Given the description of an element on the screen output the (x, y) to click on. 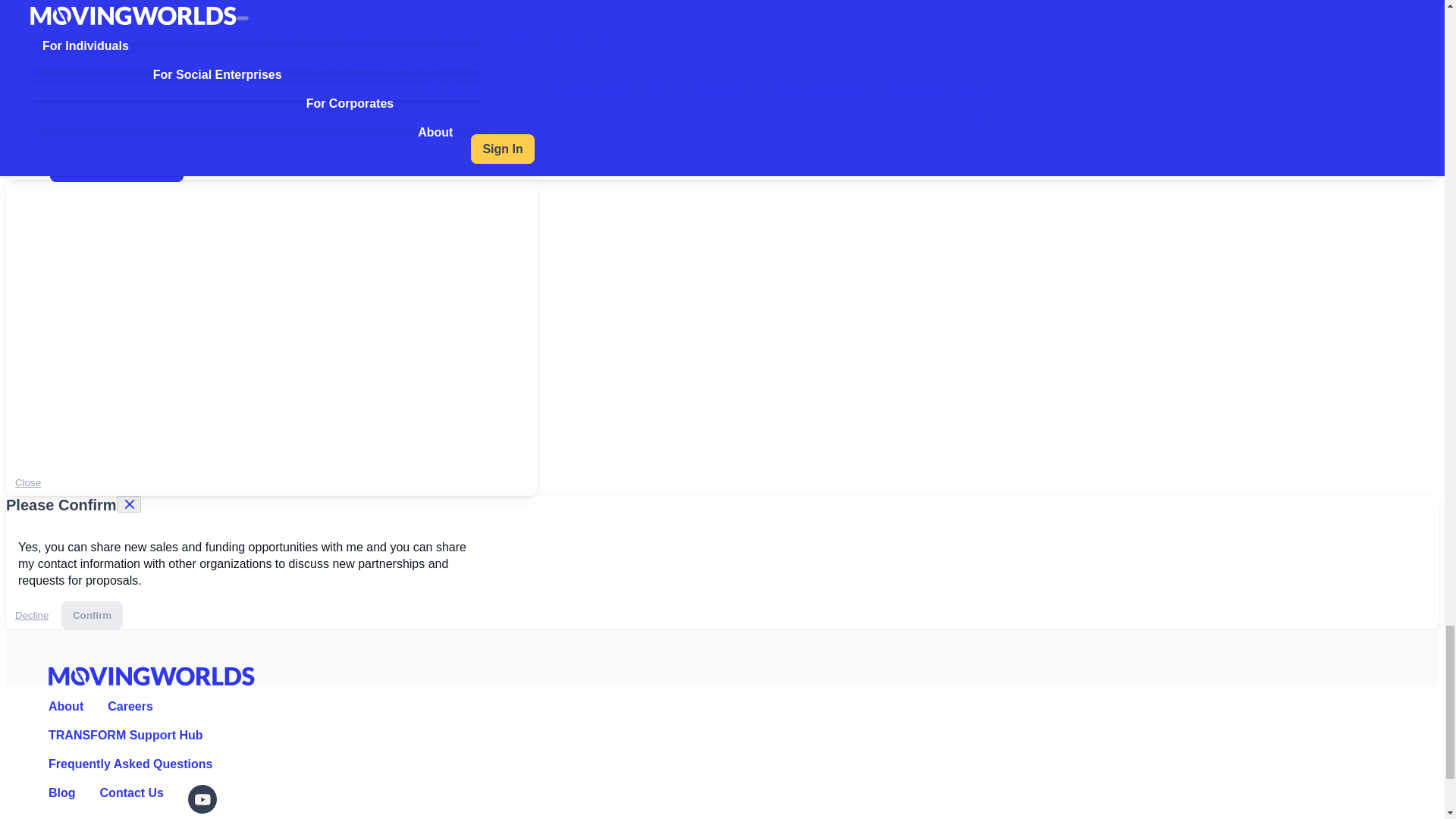
MovingWorlds Logo (151, 676)
youtube (203, 799)
